Given the description of an element on the screen output the (x, y) to click on. 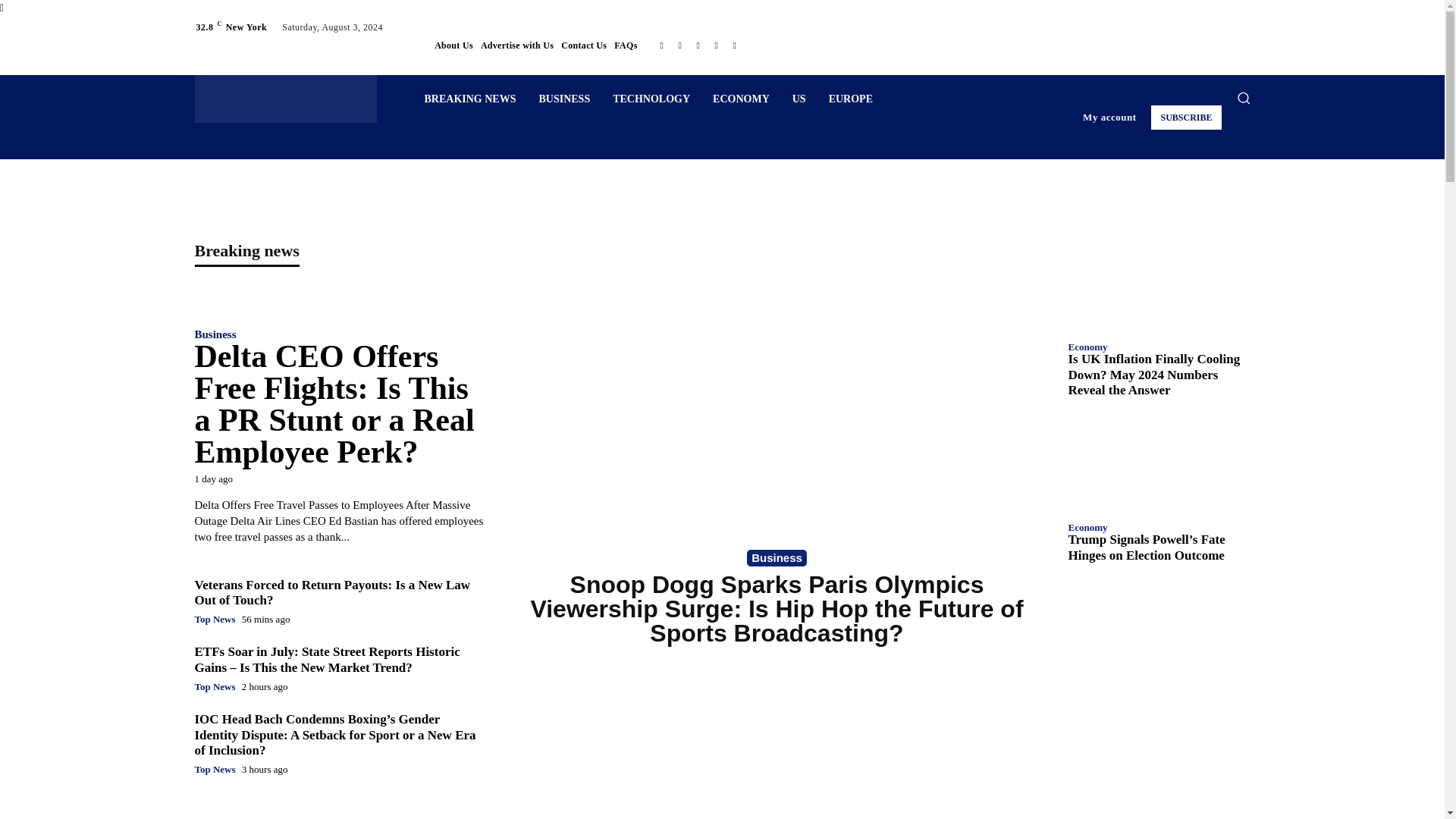
Contact Us (583, 45)
Twitter (716, 45)
Advertise with Us (516, 45)
RSS (697, 45)
Facebook (661, 45)
Subscribe (1186, 116)
FAQs (625, 45)
Medium (679, 45)
BREAKING NEWS (469, 99)
EUROPE (849, 99)
Website (734, 45)
TECHNOLOGY (651, 99)
About Us (453, 45)
ECONOMY (740, 99)
SUBSCRIBE (1186, 116)
